Given the description of an element on the screen output the (x, y) to click on. 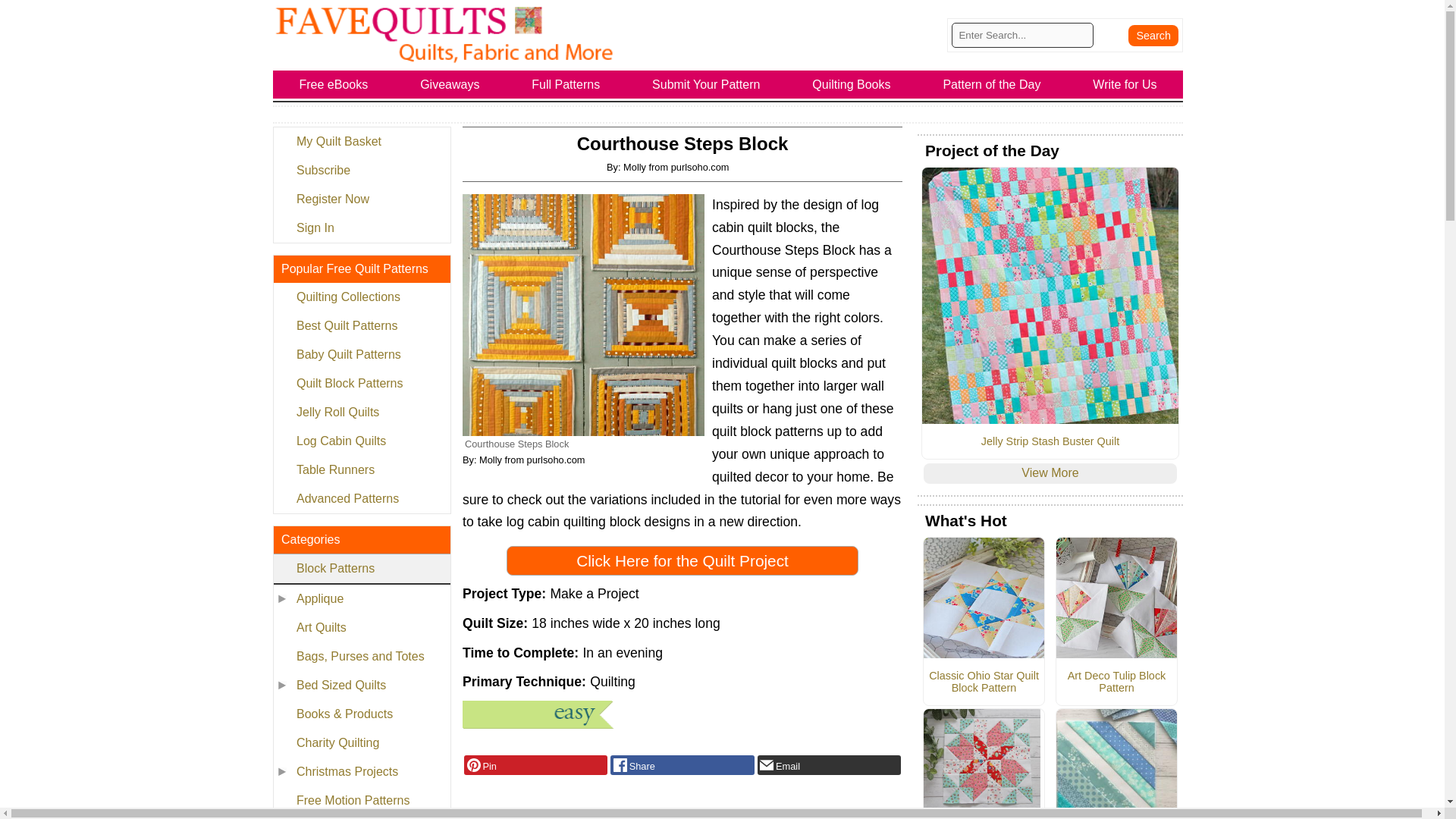
Sign In (361, 227)
Register Now (361, 199)
Email (829, 764)
Courthouse Steps Block (583, 314)
Subscribe (361, 170)
Search (1152, 35)
My Quilt Basket (361, 141)
Facebook (682, 764)
